Given the description of an element on the screen output the (x, y) to click on. 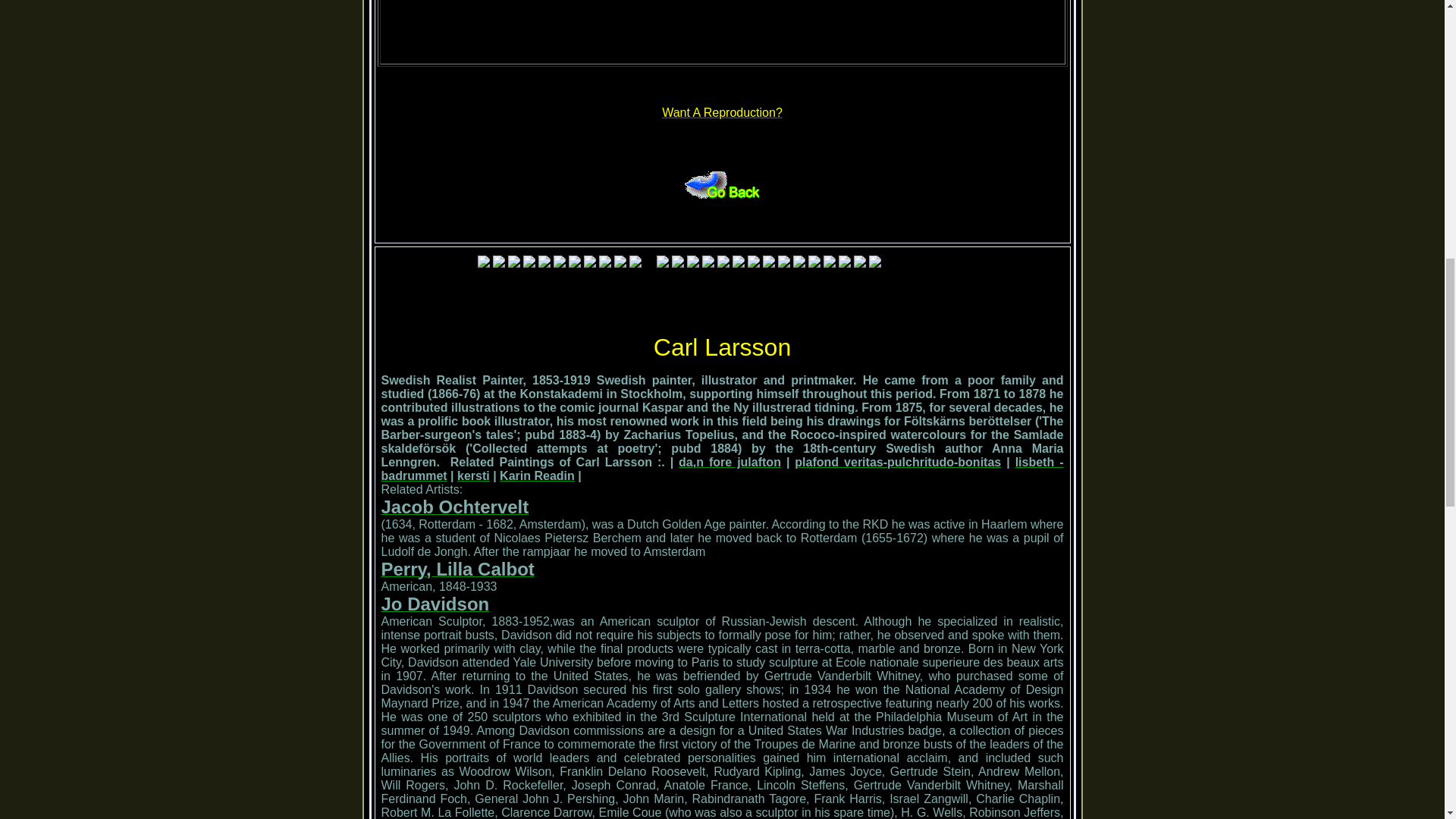
Jacob Ochtervelt (454, 508)
lisbeth -badrummet (721, 468)
Perry, Lilla Calbot (457, 571)
Want A Reproduction? (722, 112)
plafond veritas-pulchritudo-bonitas (897, 461)
Karin Readin (537, 475)
da,n fore julafton (729, 461)
Jo Davidson (434, 605)
kersti (473, 475)
